Given the description of an element on the screen output the (x, y) to click on. 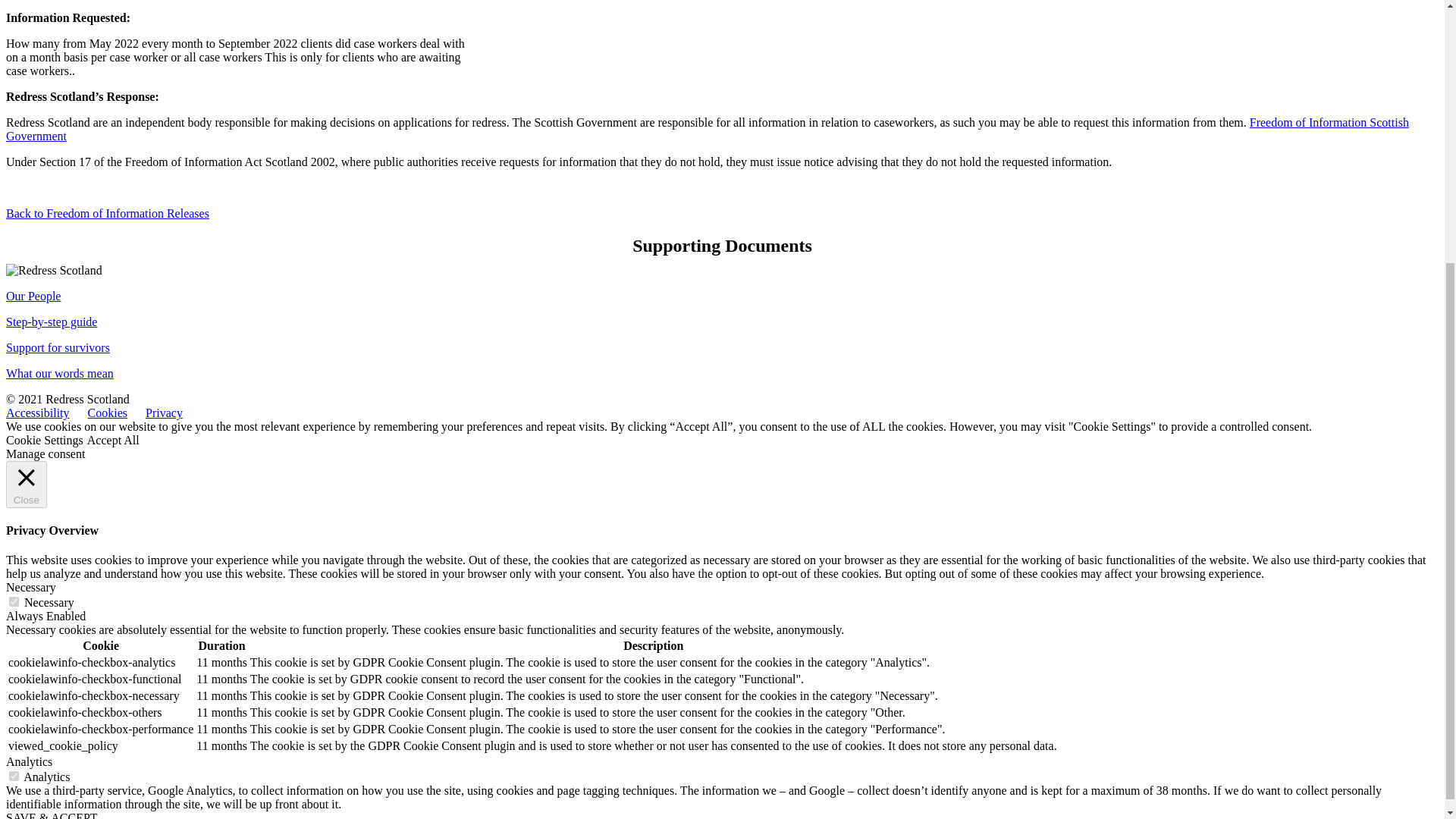
Analytics (28, 761)
Back to Freedom of Information Releases (107, 213)
Close (25, 484)
on (13, 776)
Step-by-step guide (51, 321)
Freedom of Information Scottish Government (707, 129)
on (13, 601)
Accept All (113, 440)
Cookie Settings (43, 440)
Accessibility (37, 412)
Cookies (107, 412)
Support for survivors (57, 347)
Our People (33, 295)
What our words mean (59, 373)
Privacy (164, 412)
